Given the description of an element on the screen output the (x, y) to click on. 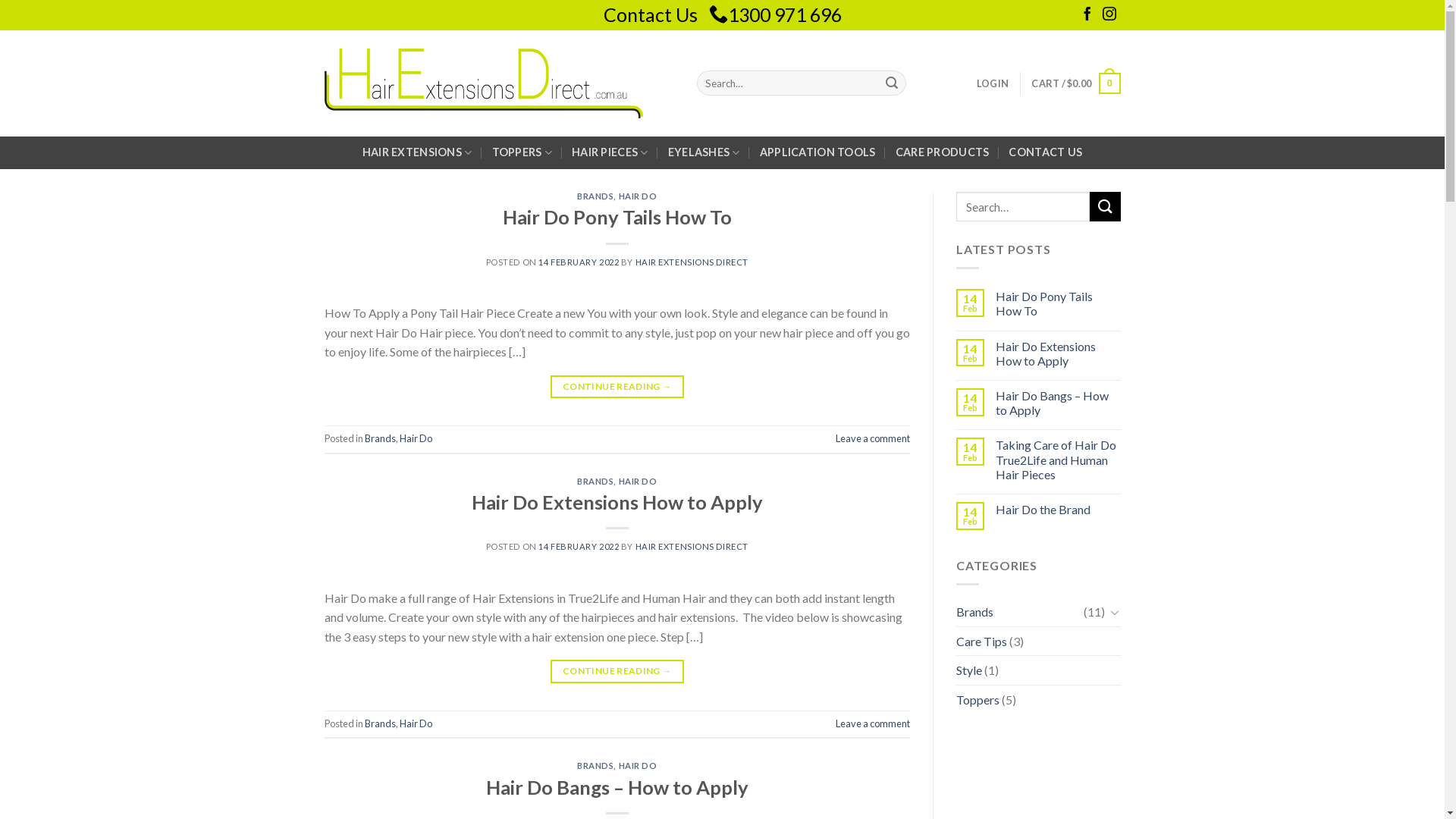
APPLICATION TOOLS Element type: text (817, 152)
Hair Do the Brand Element type: text (1057, 509)
Hair Do Pony Tails How To Element type: text (1057, 302)
Contact Us   1300 971 696 Element type: text (722, 14)
Leave a comment Element type: text (872, 438)
Hair Do Element type: text (414, 438)
HAIR DO Element type: text (637, 765)
Taking Care of Hair Do True2Life and Human Hair Pieces Element type: text (1057, 459)
HAIR EXTENSIONS DIRECT Element type: text (691, 261)
TOPPERS Element type: text (521, 152)
Hair Extensions Direct - Hair Extensions Direct To You Element type: hover (483, 83)
HAIR PIECES Element type: text (609, 152)
EYELASHES Element type: text (704, 152)
CARE PRODUCTS Element type: text (942, 152)
HAIR DO Element type: text (637, 481)
Hair Do Extensions How to Apply Element type: text (1057, 352)
14 FEBRUARY 2022 Element type: text (578, 261)
Follow on Instagram Element type: hover (1109, 14)
LOGIN Element type: text (992, 83)
CONTACT US Element type: text (1045, 152)
Search Element type: text (892, 83)
Brands Element type: text (379, 723)
Hair Do Pony Tails How To Element type: text (616, 216)
Hair Do Element type: text (414, 723)
Leave a comment Element type: text (872, 723)
BRANDS Element type: text (595, 195)
Care Tips Element type: text (981, 641)
BRANDS Element type: text (595, 481)
14 FEBRUARY 2022 Element type: text (578, 546)
Brands Element type: text (379, 438)
HAIR EXTENSIONS Element type: text (417, 152)
HAIR EXTENSIONS DIRECT Element type: text (691, 546)
Toppers Element type: text (977, 699)
Brands Element type: text (1019, 611)
Follow on Facebook Element type: hover (1087, 14)
CART / $0.00
0 Element type: text (1075, 83)
Hair Do Extensions How to Apply Element type: text (616, 501)
Style Element type: text (969, 669)
BRANDS Element type: text (595, 765)
HAIR DO Element type: text (637, 195)
